Given the description of an element on the screen output the (x, y) to click on. 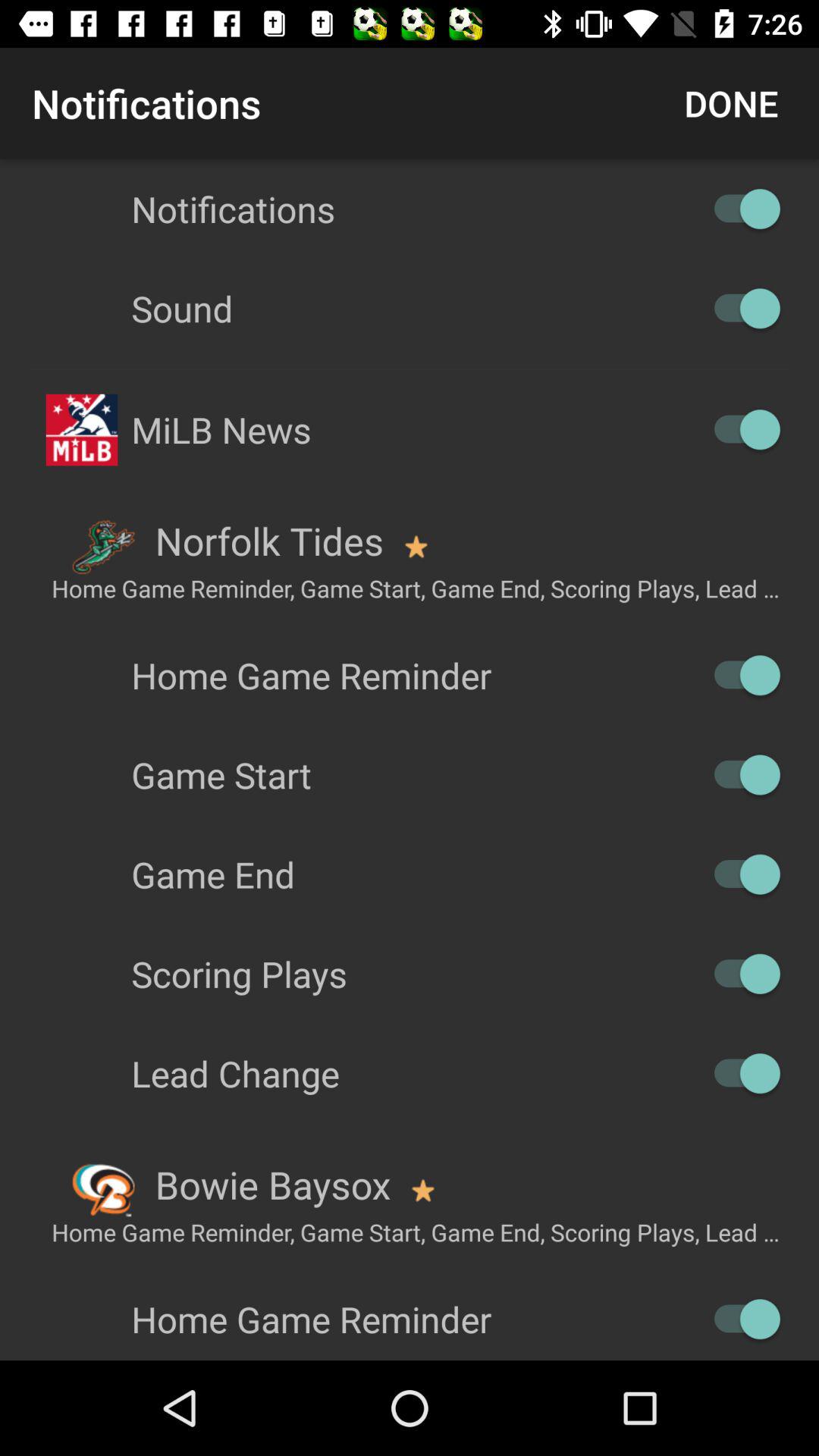
toggle game start (739, 774)
